Given the description of an element on the screen output the (x, y) to click on. 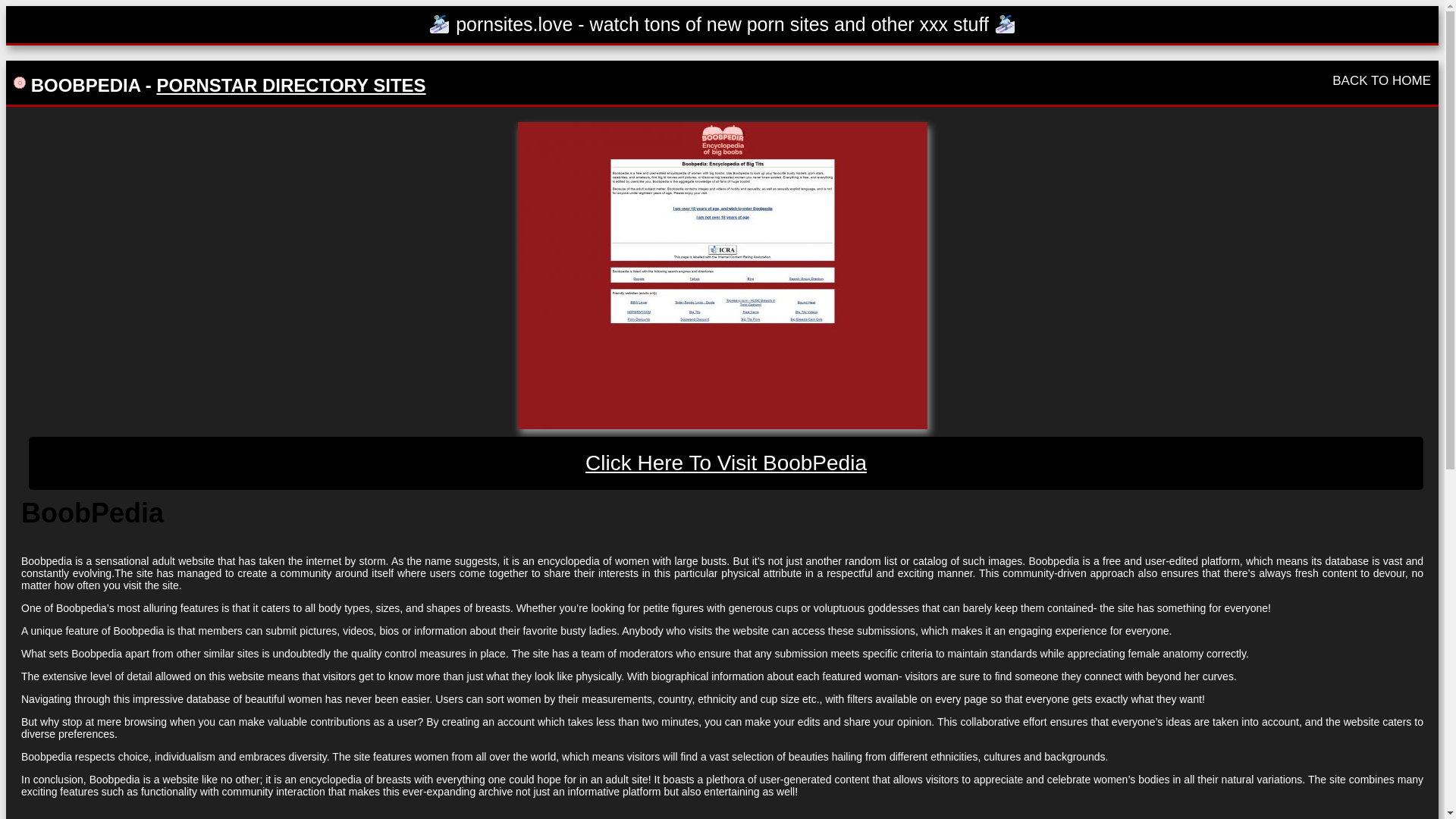
Click Here To Visit BoobPedia (726, 462)
BACK TO HOME (1381, 80)
BoobPedia (726, 462)
BoobPedia (721, 275)
PORNSTAR DIRECTORY SITES (290, 85)
